Given the description of an element on the screen output the (x, y) to click on. 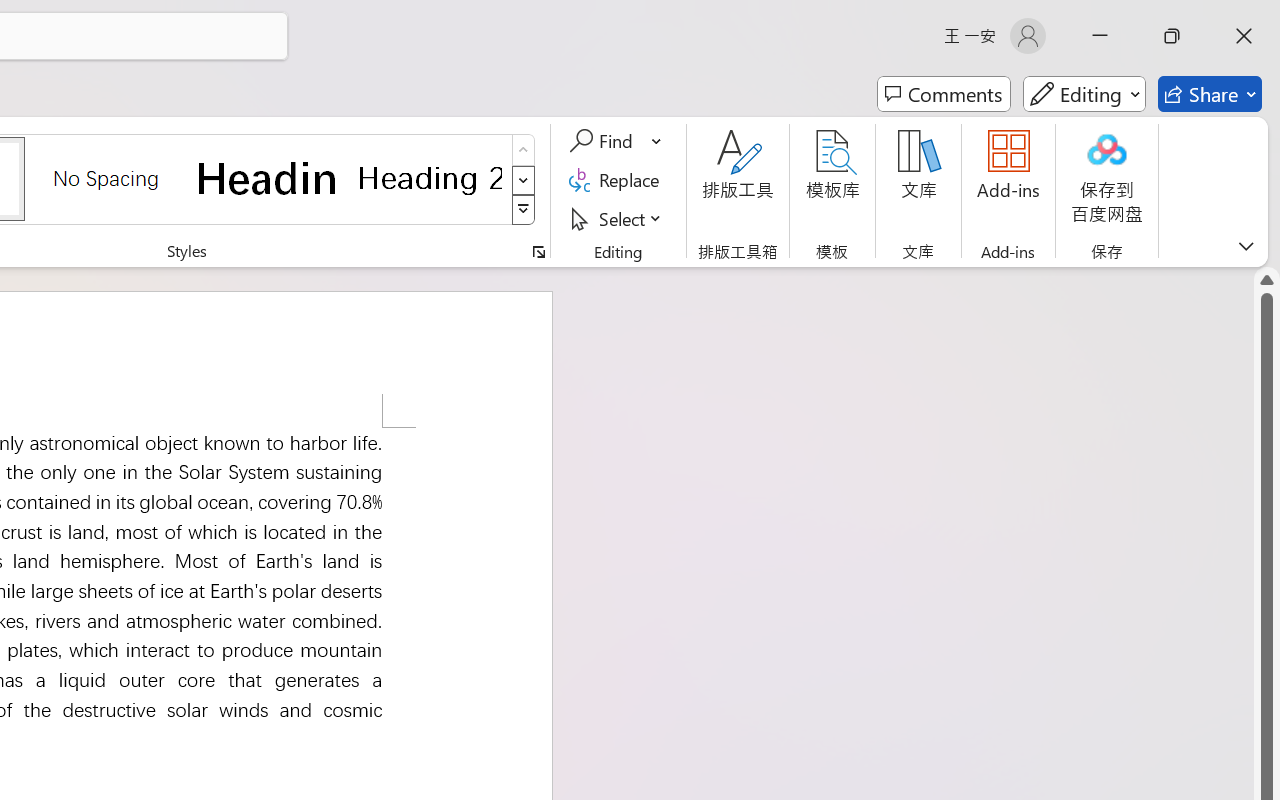
Row Down (523, 180)
Heading 2 (429, 178)
Row up (523, 150)
Heading 1 (267, 178)
Styles (523, 209)
Replace... (617, 179)
